Given the description of an element on the screen output the (x, y) to click on. 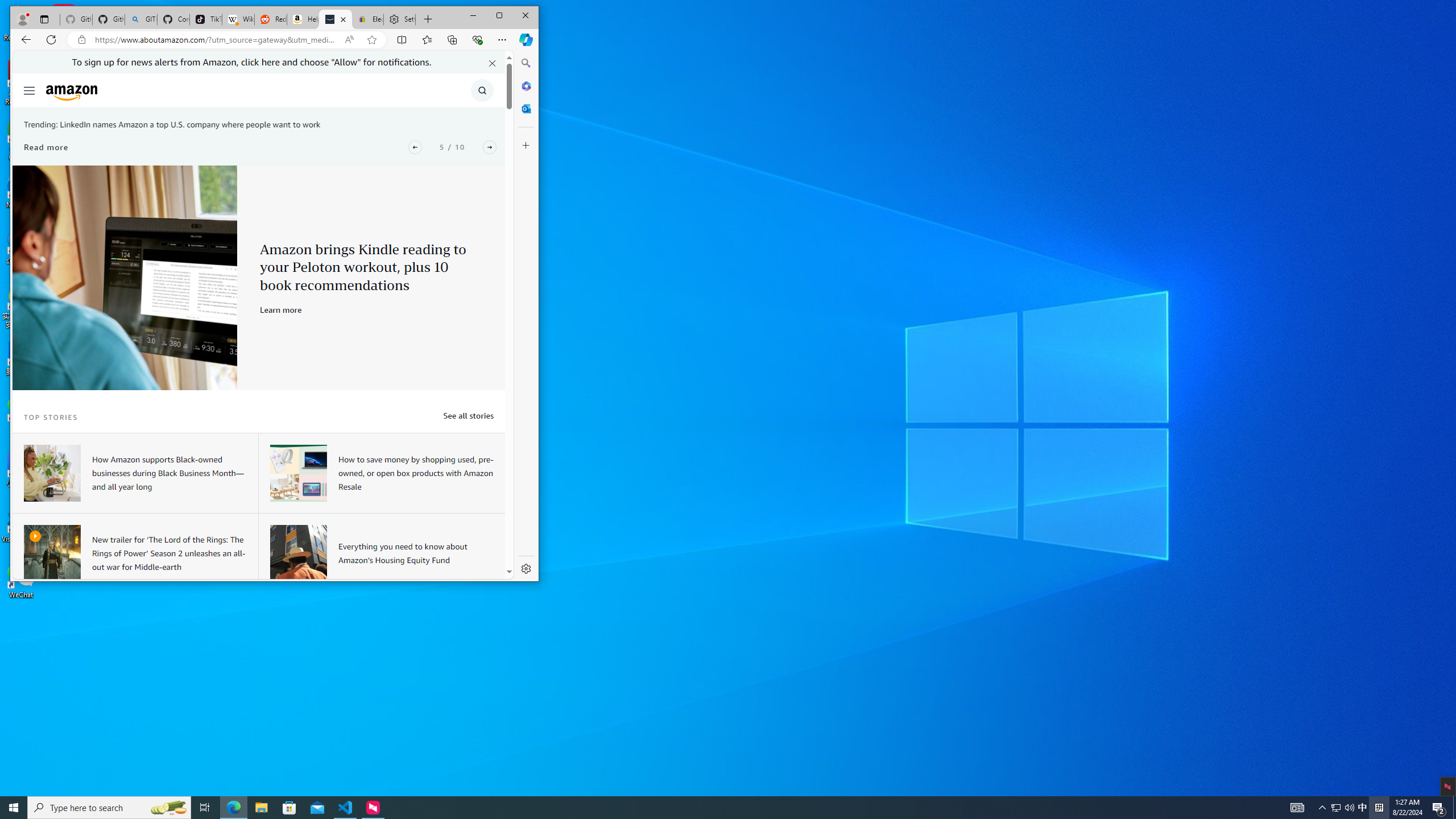
Peloton x Kindle (1362, 807)
Peloton x Kindle (125, 277)
Read more (125, 277)
Task View (45, 146)
Type here to search (204, 807)
